Given the description of an element on the screen output the (x, y) to click on. 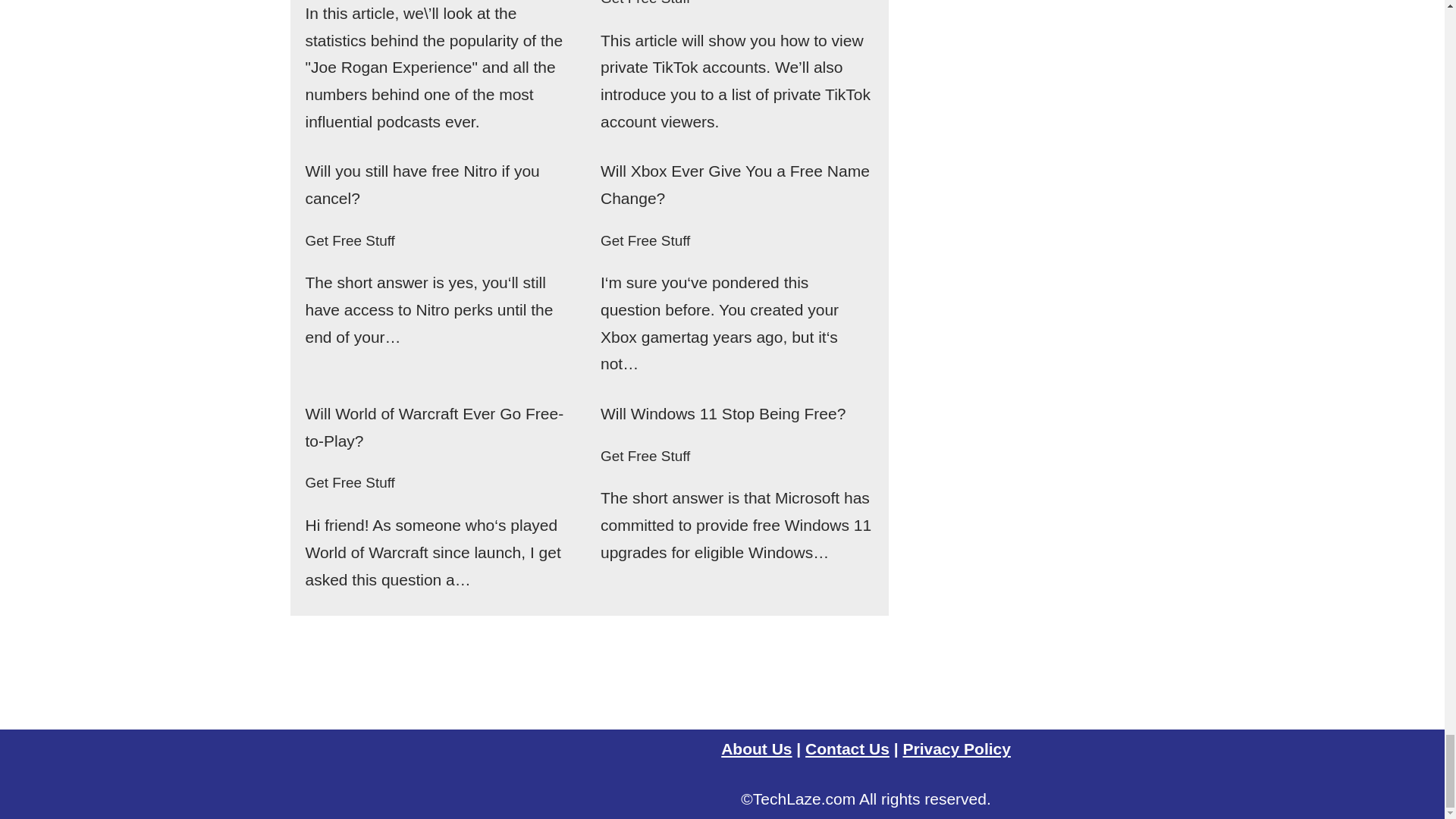
Will Xbox Ever Give You a Free Name Change? (734, 184)
Will World of Warcraft Ever Go Free-to-Play? (433, 426)
Get Free Stuff (349, 482)
Get Free Stuff (644, 240)
Get Free Stuff (349, 240)
Get Free Stuff (644, 2)
Will you still have free Nitro if you cancel? (421, 184)
